Given the description of an element on the screen output the (x, y) to click on. 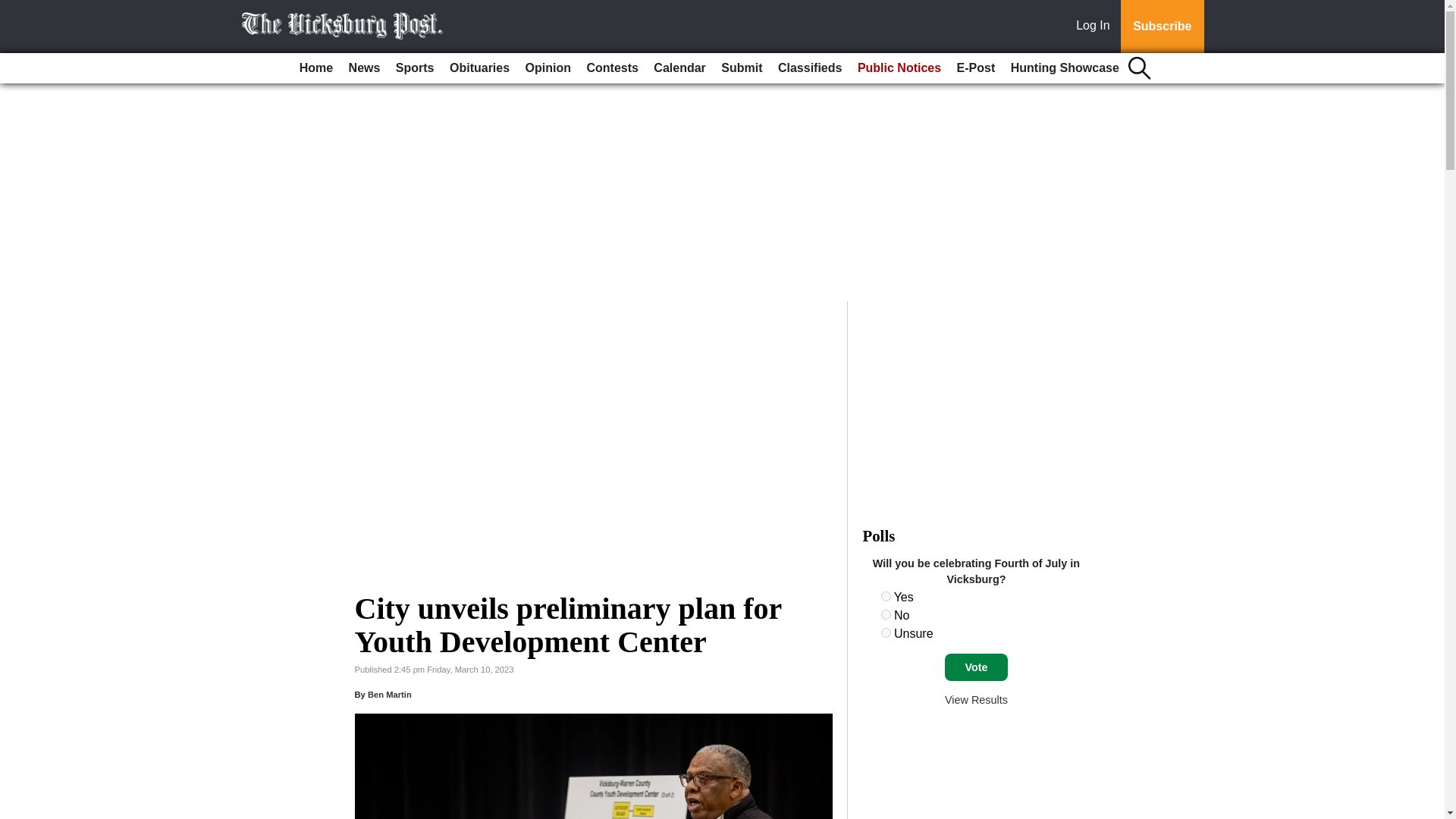
View Results Of This Poll (975, 699)
Ben Martin (390, 694)
Contests (611, 68)
588 (885, 596)
Go (13, 9)
Sports (415, 68)
News (364, 68)
590 (885, 633)
589 (885, 614)
   Vote    (975, 666)
Public Notices (899, 68)
Log In (1095, 26)
E-Post (975, 68)
Home (316, 68)
Subscribe (1162, 26)
